Given the description of an element on the screen output the (x, y) to click on. 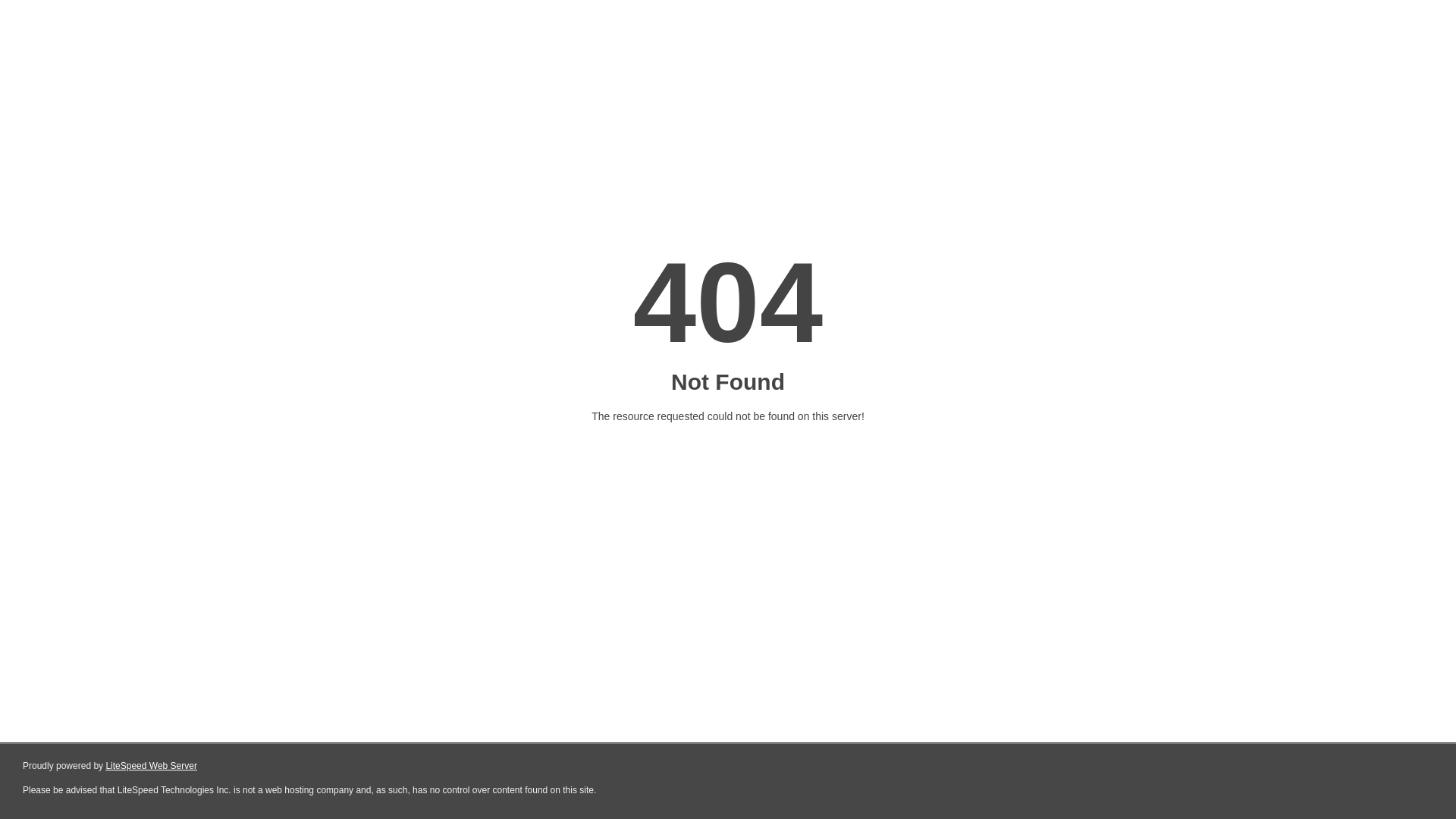
LiteSpeed Web Server Element type: text (151, 765)
